Given the description of an element on the screen output the (x, y) to click on. 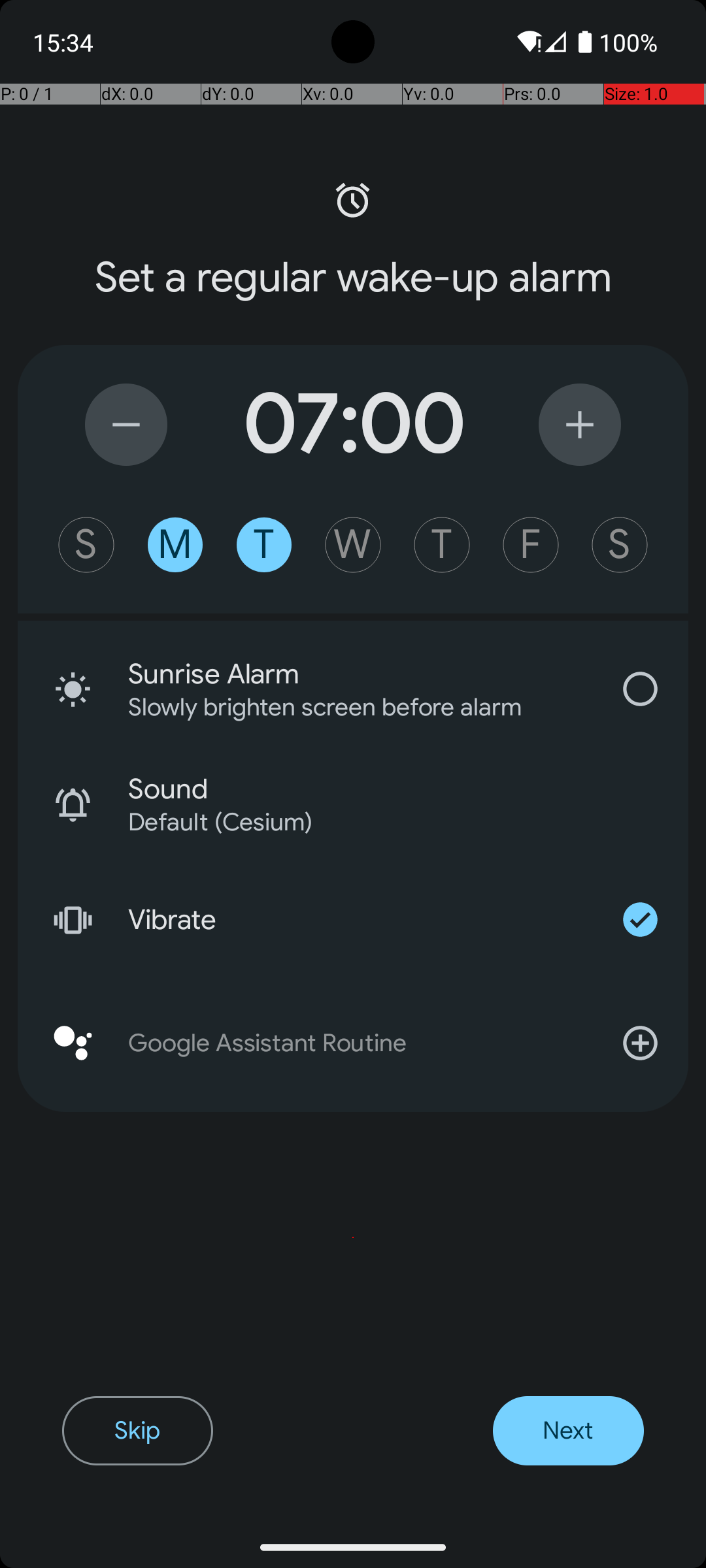
Set a regular wake-up alarm Element type: android.widget.TextView (352, 277)
Fifteen minutes earlier Element type: android.widget.ImageView (125, 424)
07:00 Element type: android.widget.TextView (353, 424)
Fifteen minutes later Element type: android.widget.ImageView (579, 424)
Google Assistant Routine Element type: android.widget.TextView (352, 1043)
Skip Element type: android.widget.Button (137, 1430)
Sunrise Alarm Element type: android.widget.TextView (360, 673)
Slowly brighten screen before alarm Element type: android.widget.TextView (342, 706)
Sound Element type: android.widget.TextView (408, 788)
